Given the description of an element on the screen output the (x, y) to click on. 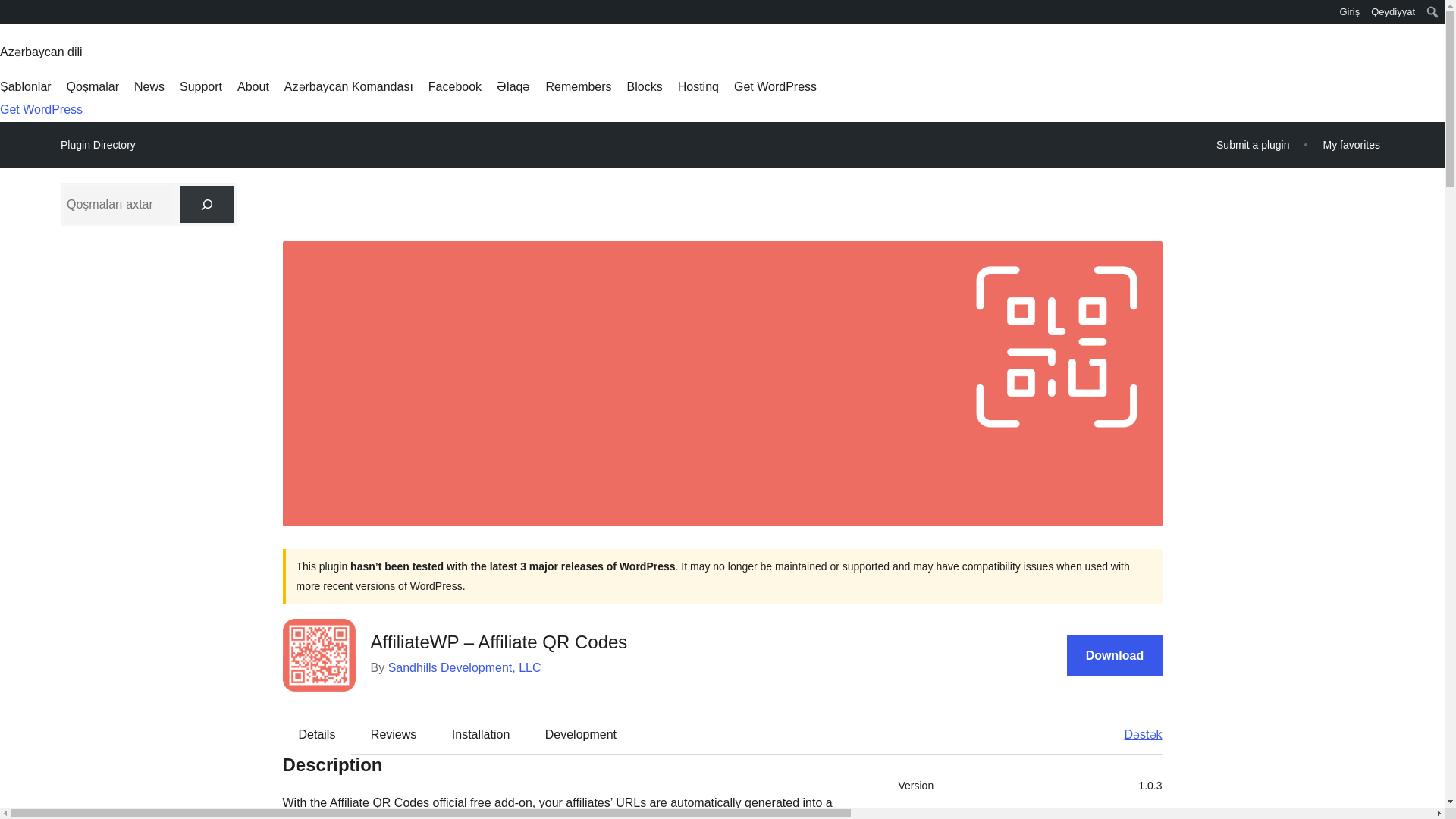
Details (316, 733)
News (148, 87)
Reviews (392, 733)
About (253, 87)
Facebook (454, 87)
WordPress.org (10, 16)
Installation (480, 733)
WordPress.org (10, 10)
Development (580, 733)
Axtar (13, 13)
